Given the description of an element on the screen output the (x, y) to click on. 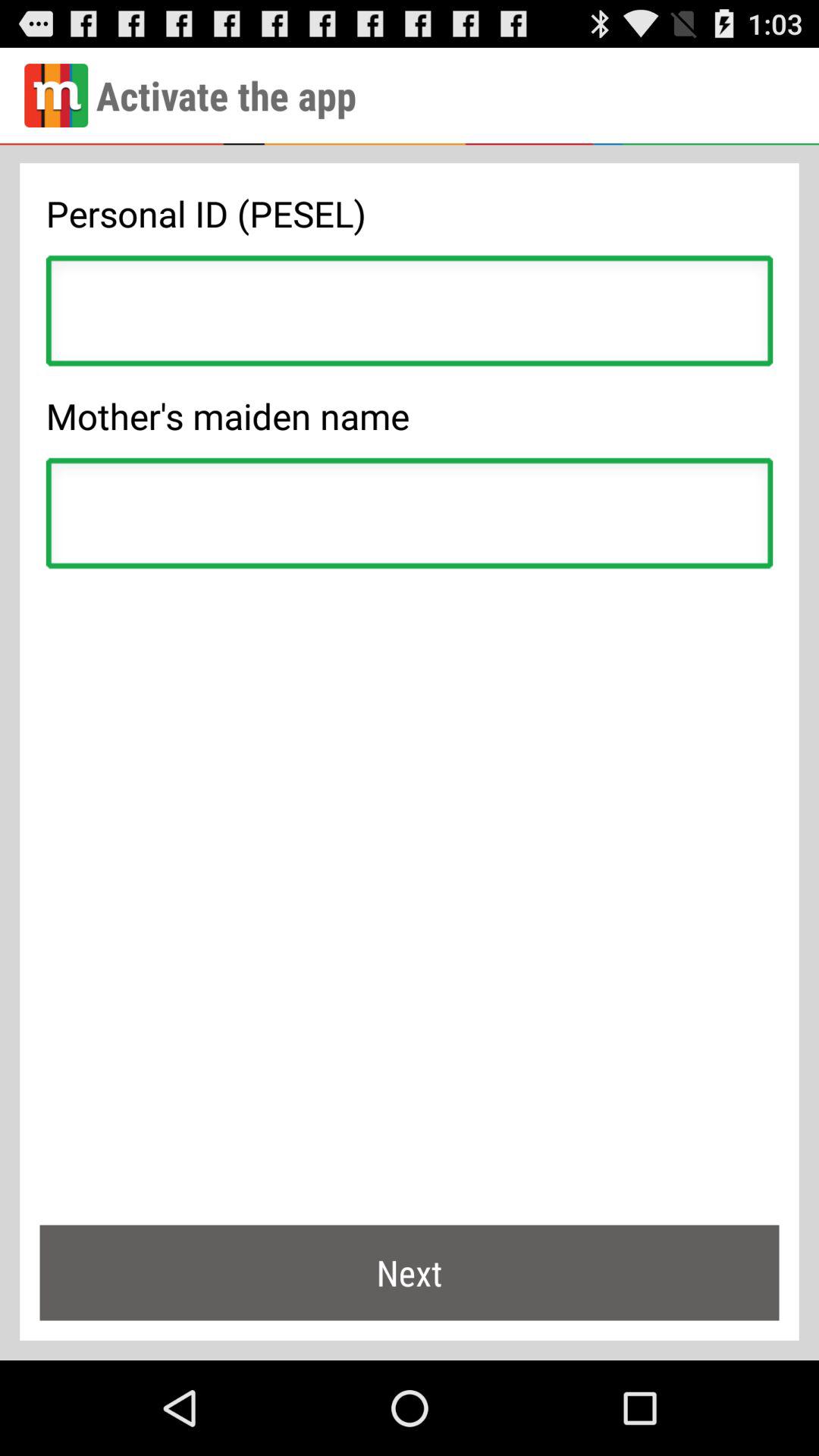
turn on next at the bottom (409, 1272)
